Given the description of an element on the screen output the (x, y) to click on. 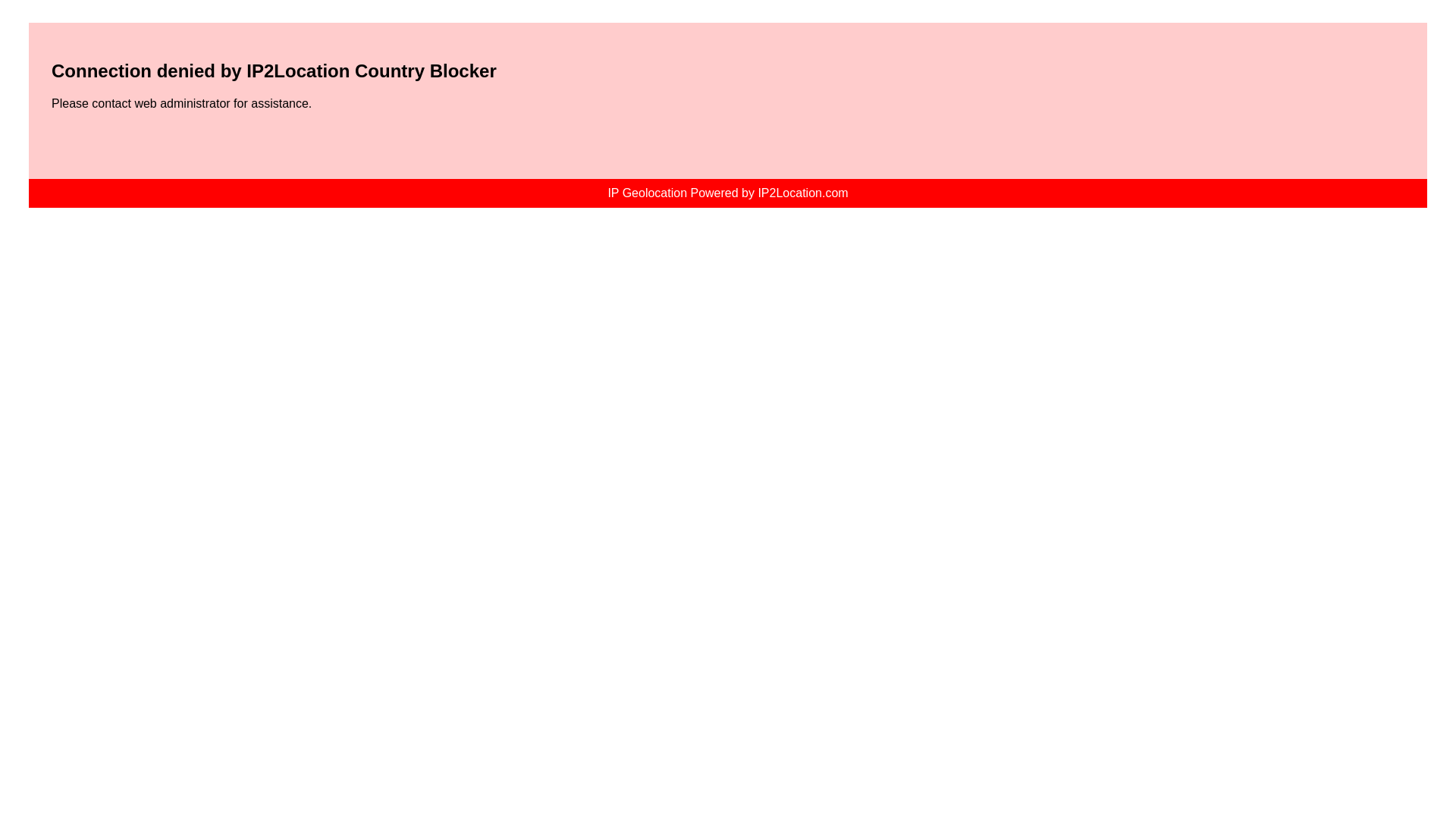
IP Geolocation Powered by IP2Location.com (727, 192)
